Given the description of an element on the screen output the (x, y) to click on. 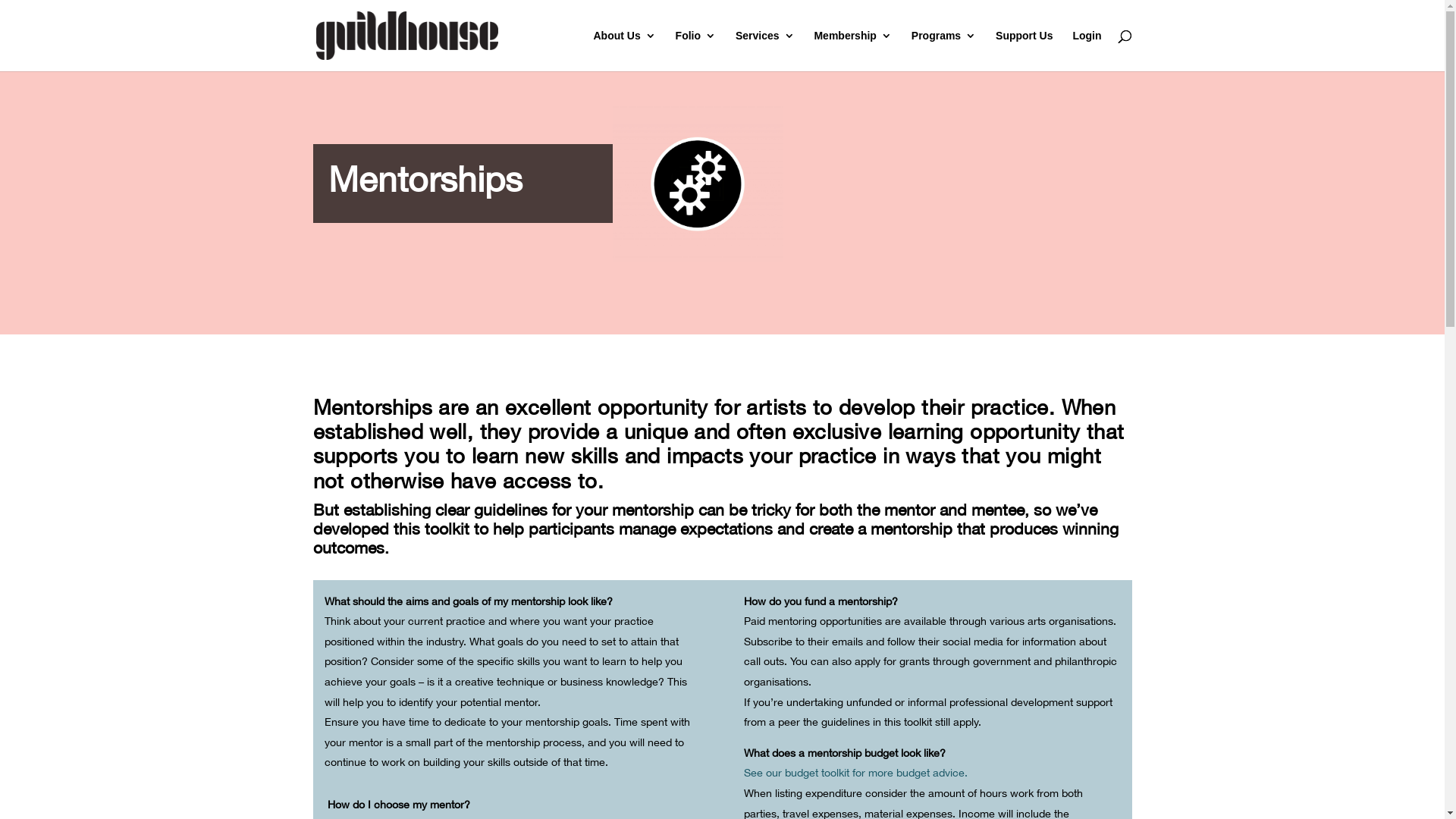
Services Element type: text (764, 50)
Support Us Element type: text (1023, 50)
mentorships copy Element type: hover (697, 183)
Membership Element type: text (852, 50)
Login Element type: text (1086, 50)
About Us Element type: text (624, 50)
Folio Element type: text (695, 50)
See our budget toolkit for more budget advice. Element type: text (855, 771)
Programs Element type: text (943, 50)
